Given the description of an element on the screen output the (x, y) to click on. 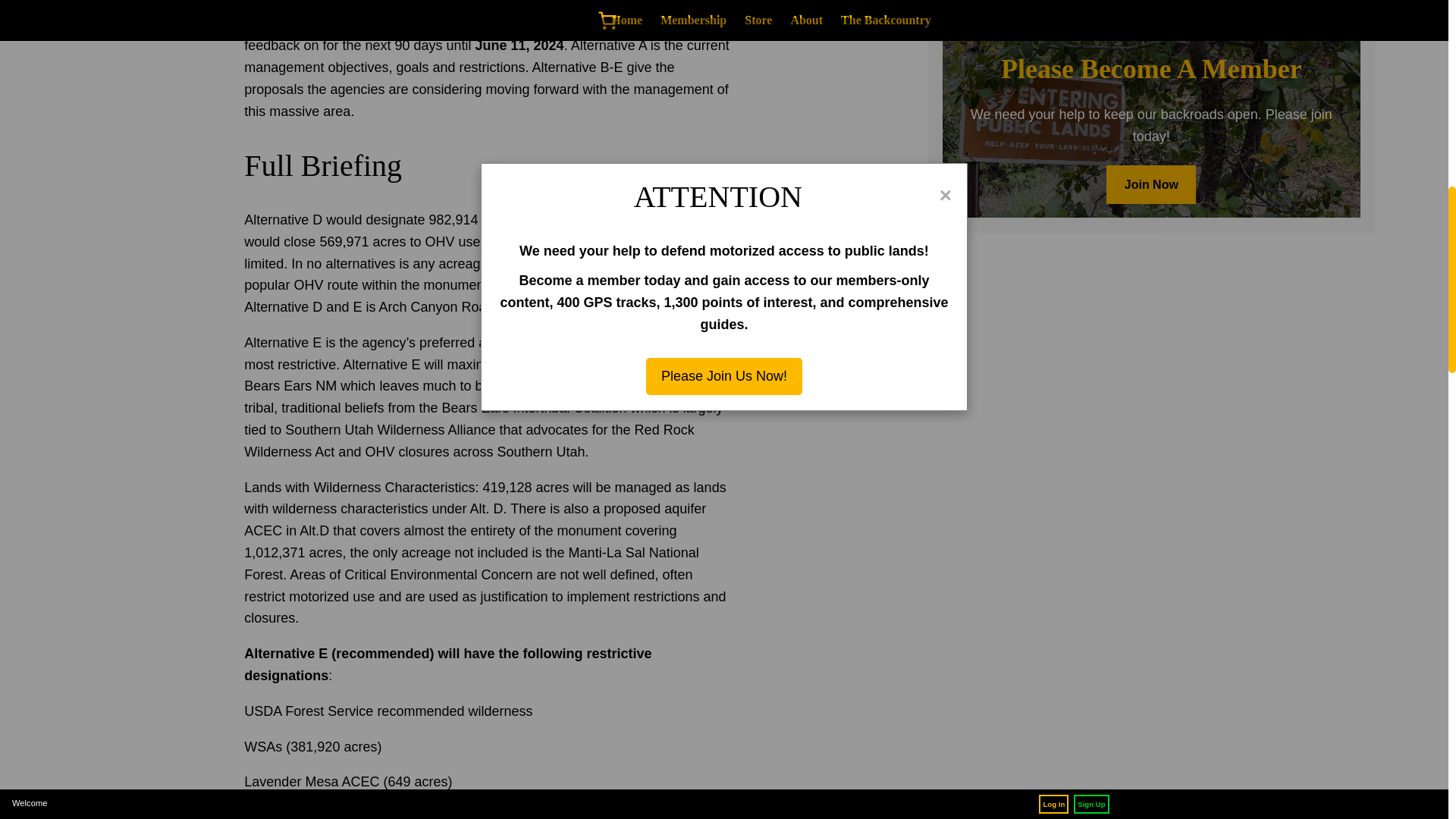
Join Now (1150, 184)
AZBackroads.com Store (1151, 10)
